Given the description of an element on the screen output the (x, y) to click on. 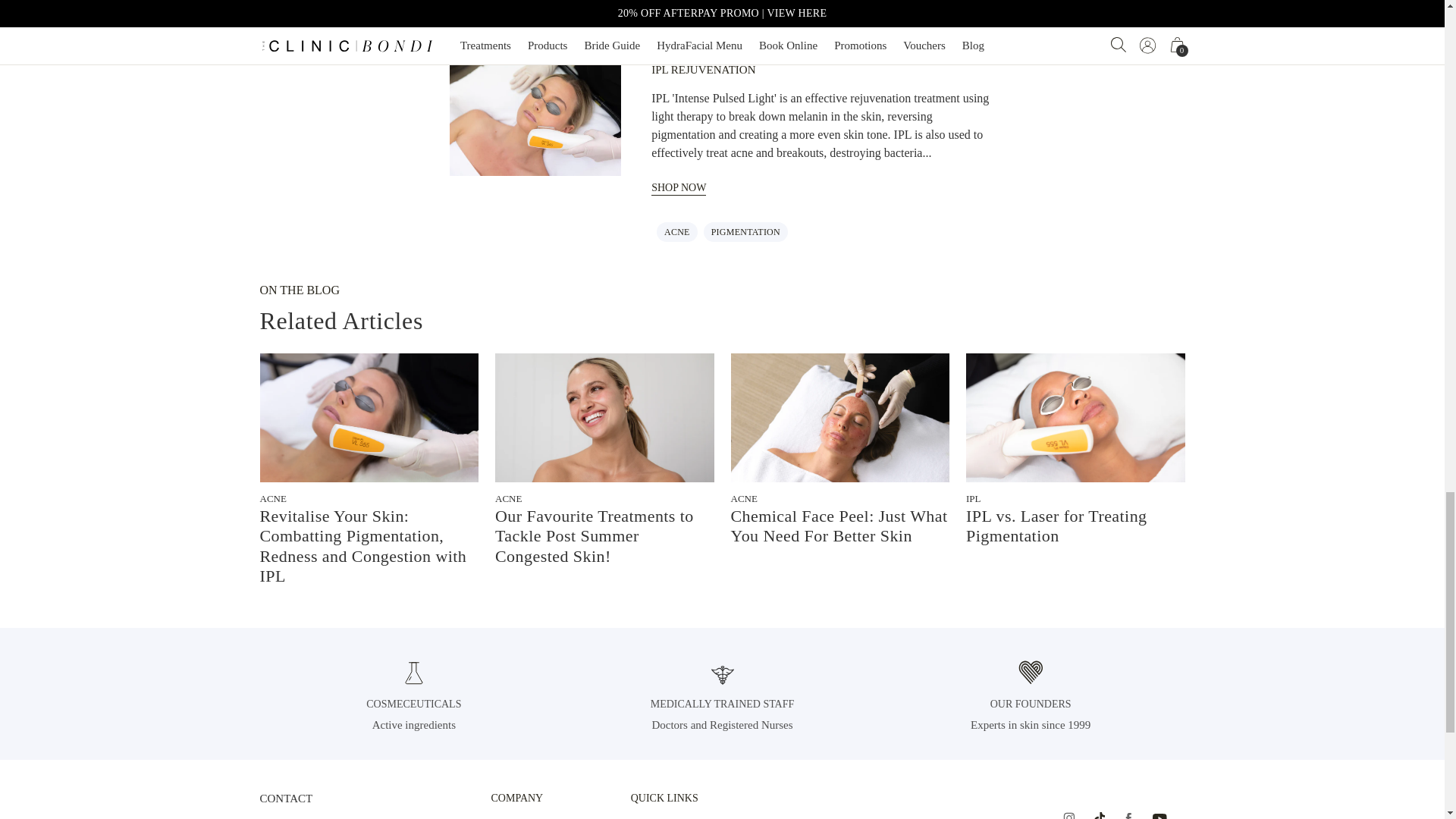
The Clinic Bondi on Instagram (1068, 815)
The Clinic Bondi on Facebook (1128, 815)
The Clinic Bondi on Tiktok (1098, 815)
The Clinic Bondi on YouTube (1160, 815)
